Given the description of an element on the screen output the (x, y) to click on. 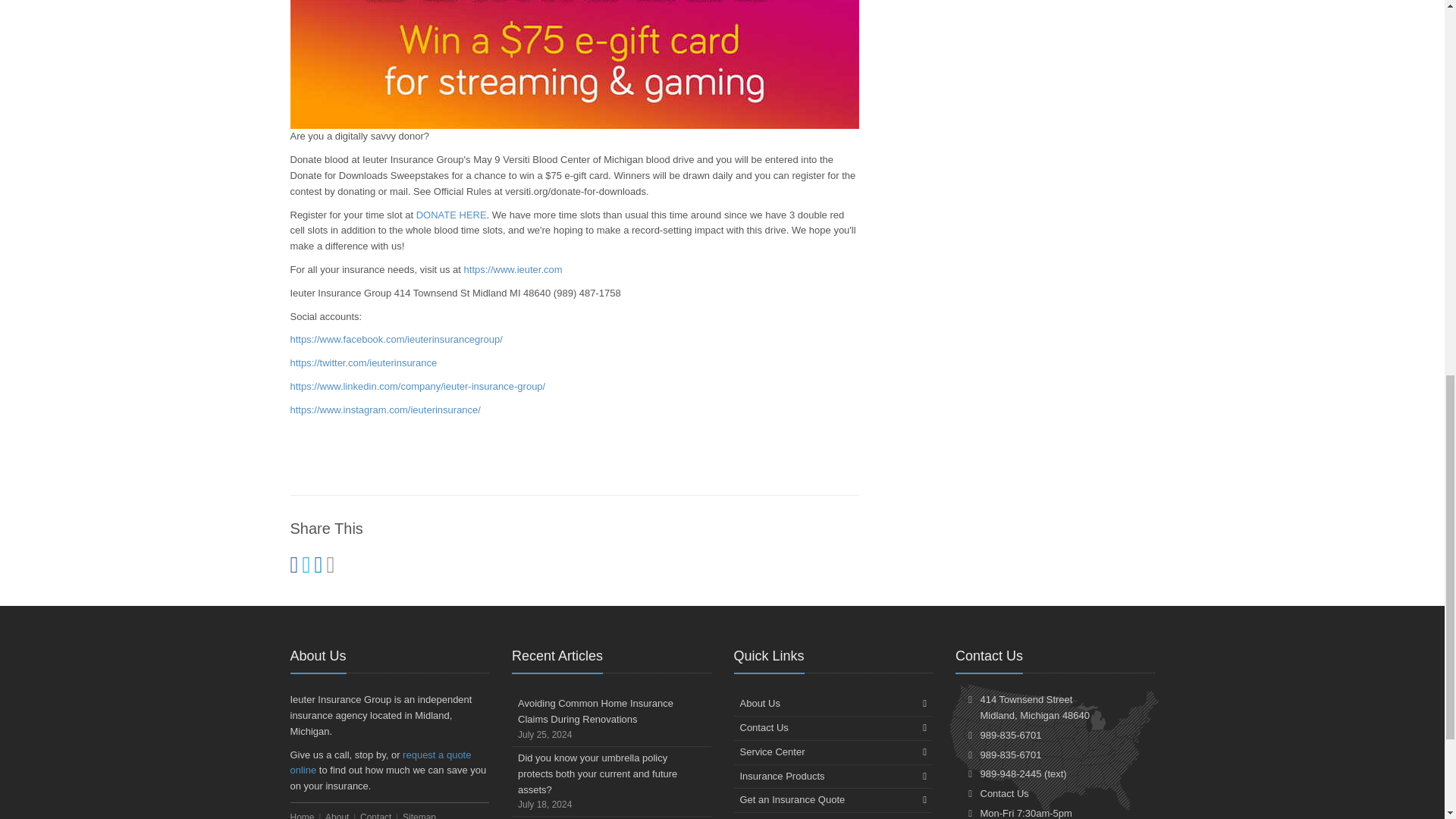
DONATE HERE (451, 214)
